Given the description of an element on the screen output the (x, y) to click on. 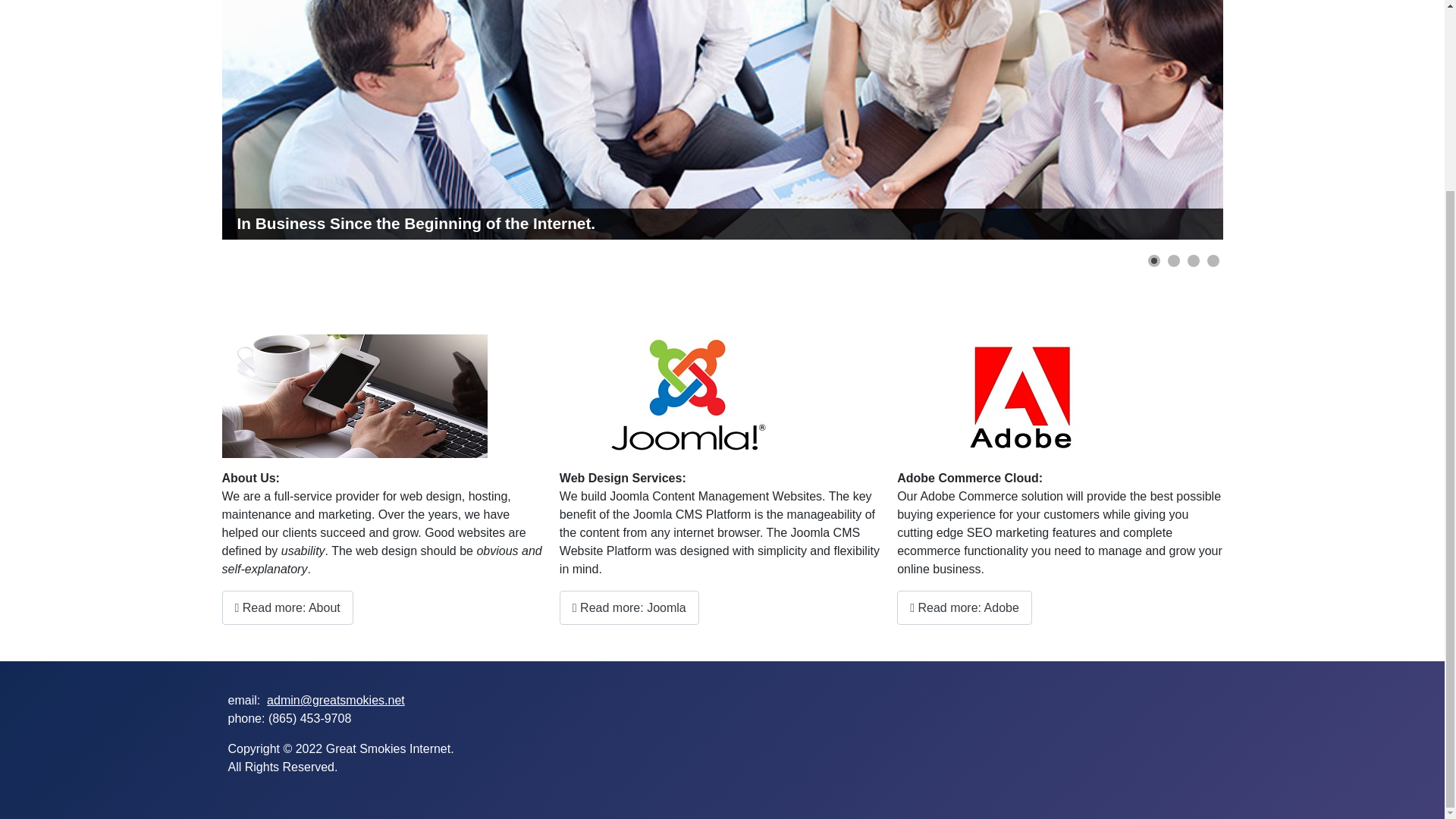
Read more: Joomla (628, 607)
Adobe (1028, 395)
About (353, 395)
Read more: About (286, 607)
Read more: Adobe (964, 607)
Joomla (692, 395)
